Given the description of an element on the screen output the (x, y) to click on. 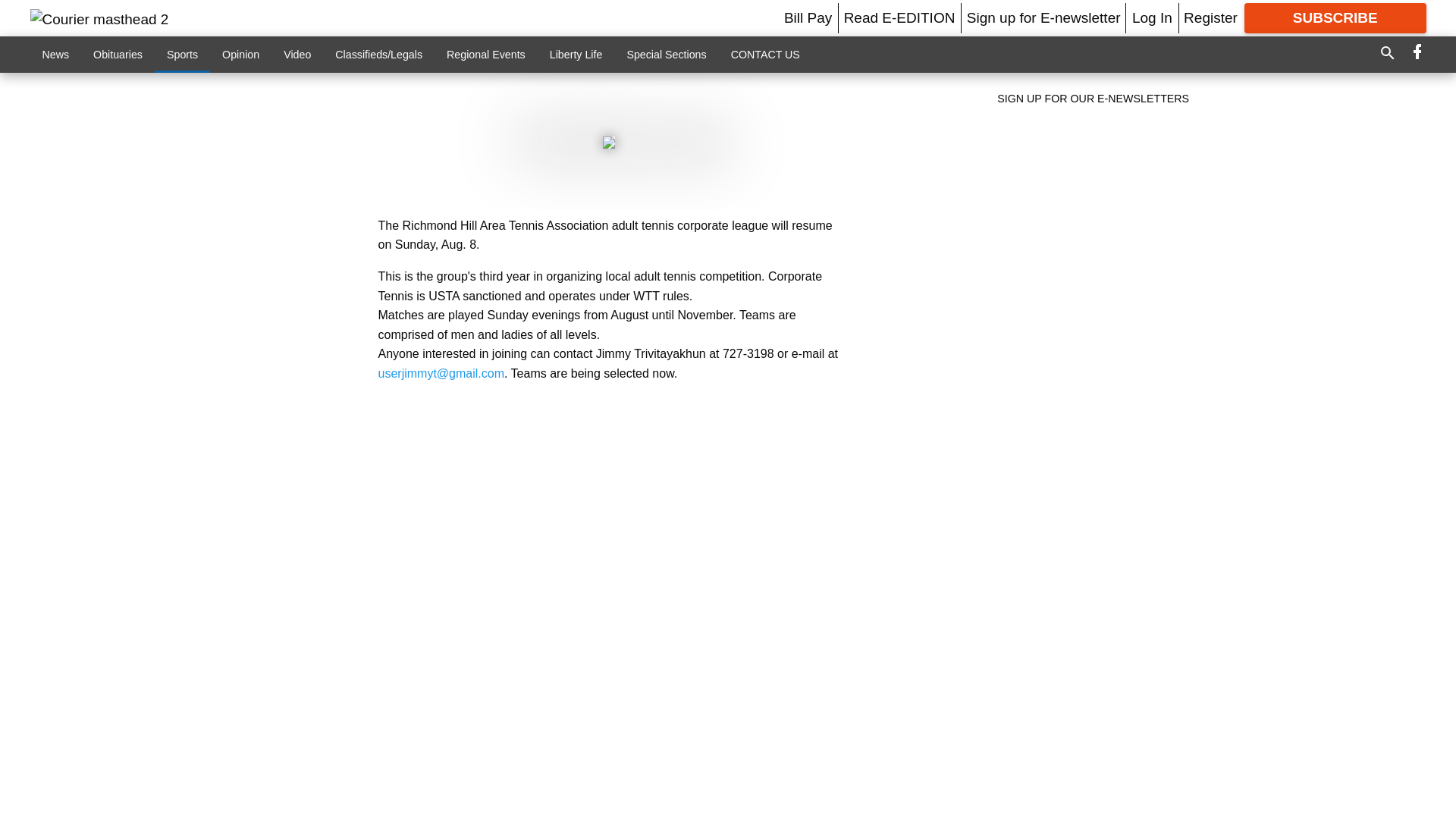
Bill Pay (807, 17)
Video (296, 54)
Sign up for E-newsletter (1043, 17)
News (55, 54)
Read E-EDITION (899, 17)
Register (1210, 17)
Sports (181, 54)
Opinion (239, 54)
Log In (1152, 17)
Obituaries (117, 54)
